Given the description of an element on the screen output the (x, y) to click on. 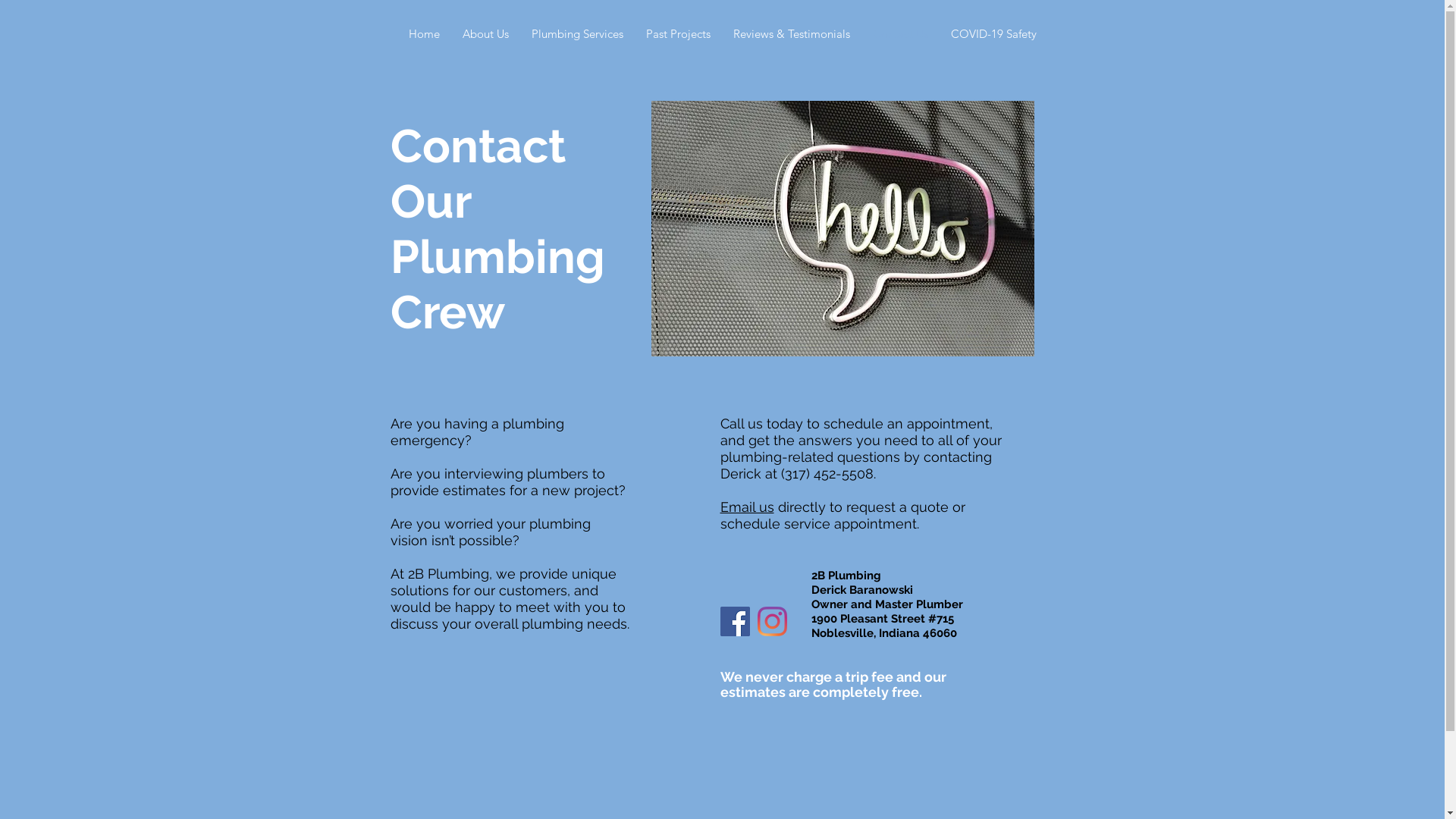
Past Projects Element type: text (677, 34)
Email us Element type: text (747, 506)
COVID-19 Safety Element type: text (992, 34)
Reviews & Testimonials Element type: text (791, 34)
Contact Us Element type: text (900, 34)
Home Element type: text (424, 34)
Plumbing Services Element type: text (577, 34)
About Us Element type: text (484, 34)
